Given the description of an element on the screen output the (x, y) to click on. 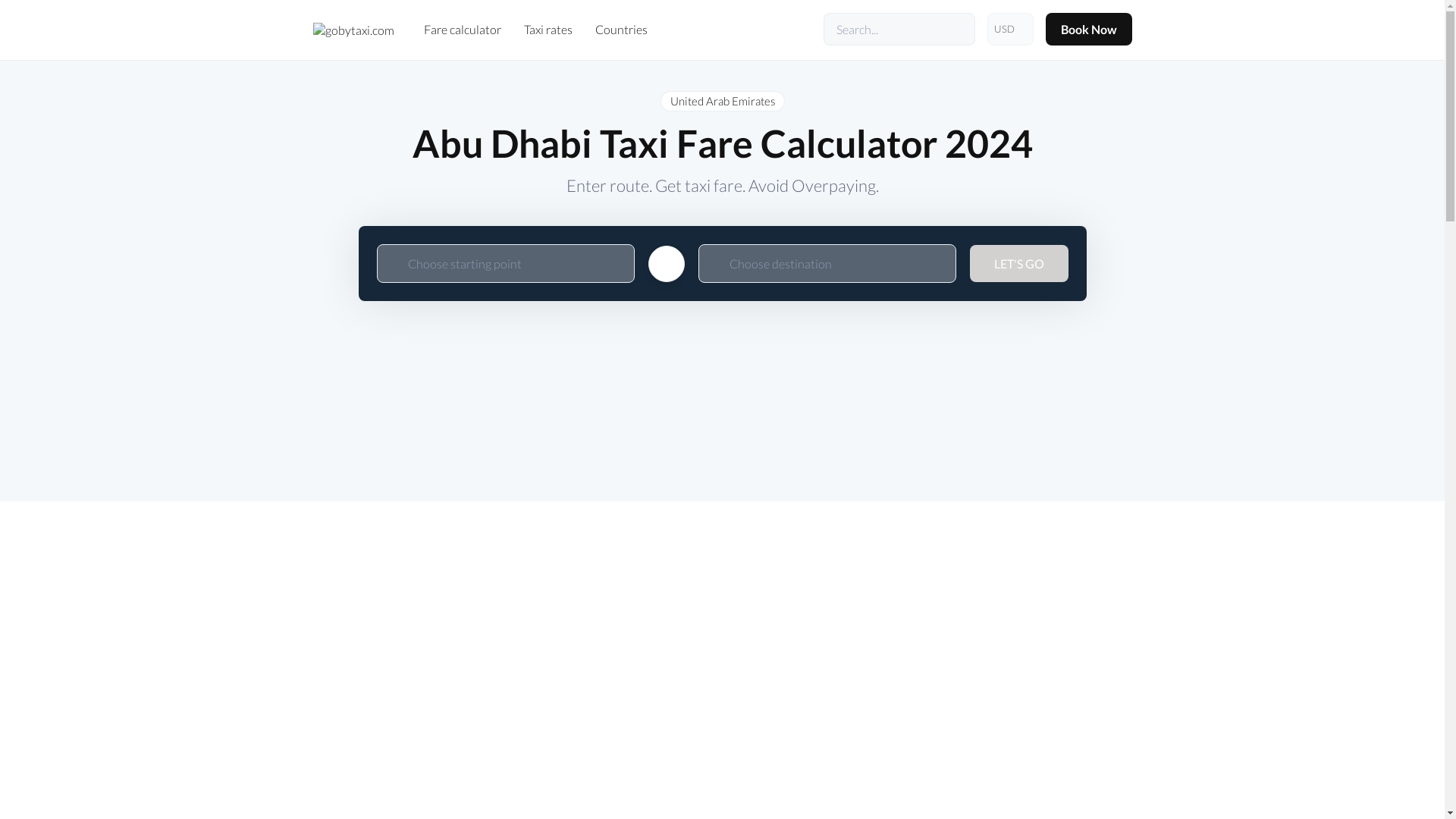
Countries (620, 28)
Fare calculator (461, 28)
LET'S GO (1018, 262)
Taxi rates (547, 28)
Book Now (1088, 28)
gobytaxi.com (353, 28)
United Arab Emirates (721, 100)
gobytaxi.com (353, 29)
